Given the description of an element on the screen output the (x, y) to click on. 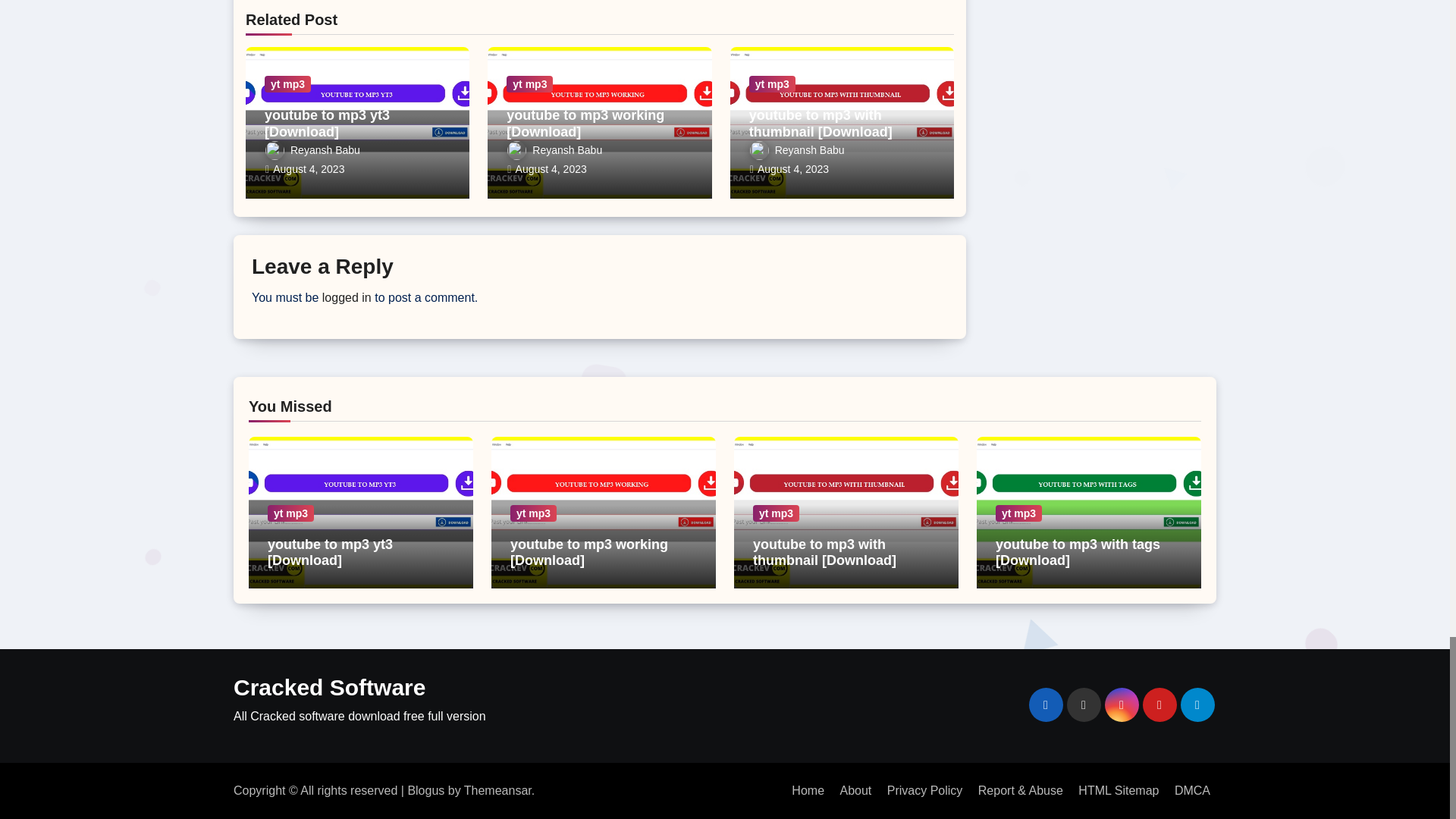
About (855, 790)
HTML Sitemap (1117, 790)
Privacy Policy (924, 790)
Home (807, 790)
